Given the description of an element on the screen output the (x, y) to click on. 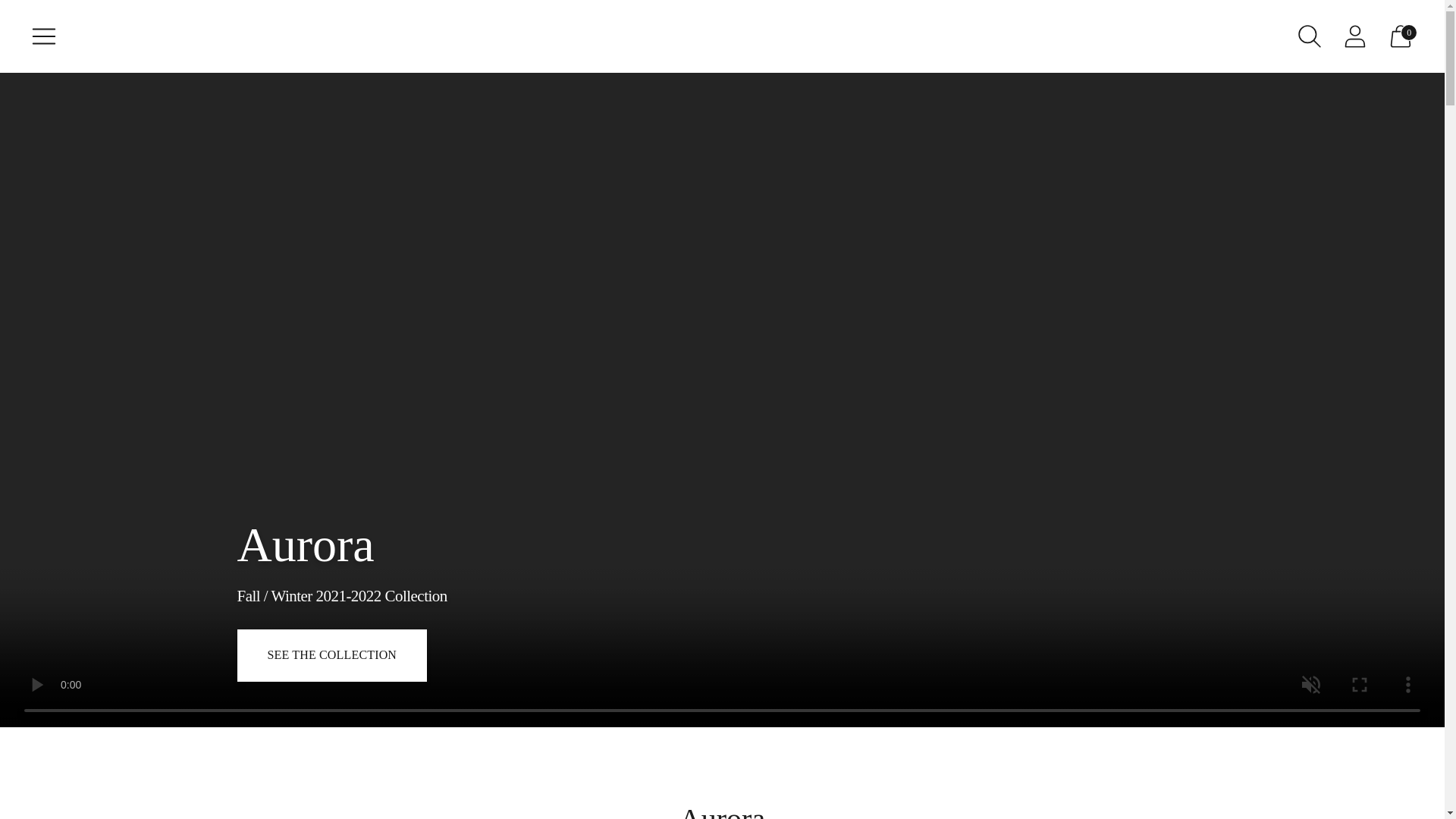
0 (1400, 36)
